Given the description of an element on the screen output the (x, y) to click on. 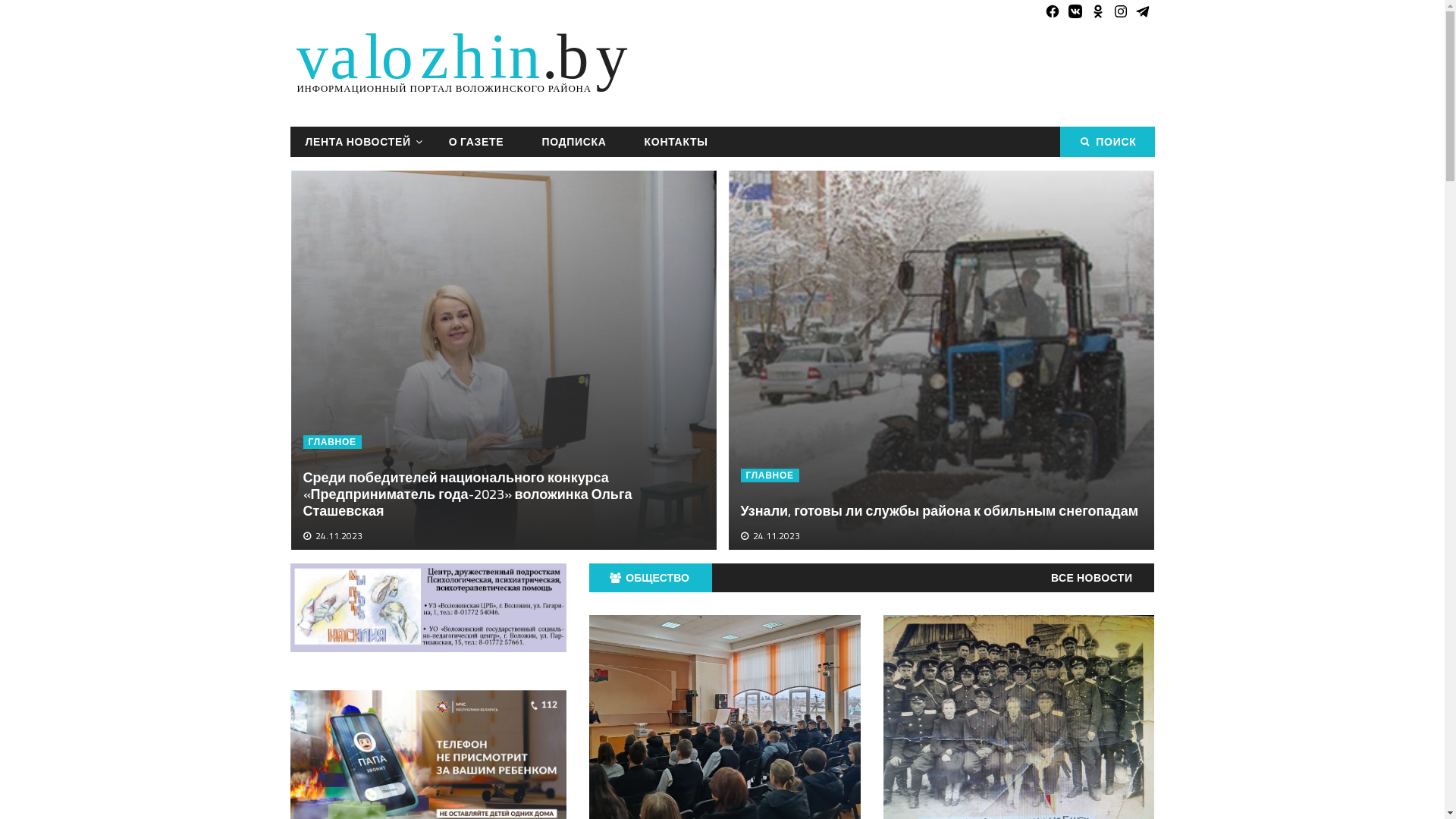
24.11.2023 Element type: text (338, 535)
24.11.2023 Element type: text (775, 535)
Facebook Element type: hover (1051, 11)
Telegram Element type: hover (1142, 11)
Instagram Element type: hover (1119, 11)
